Given the description of an element on the screen output the (x, y) to click on. 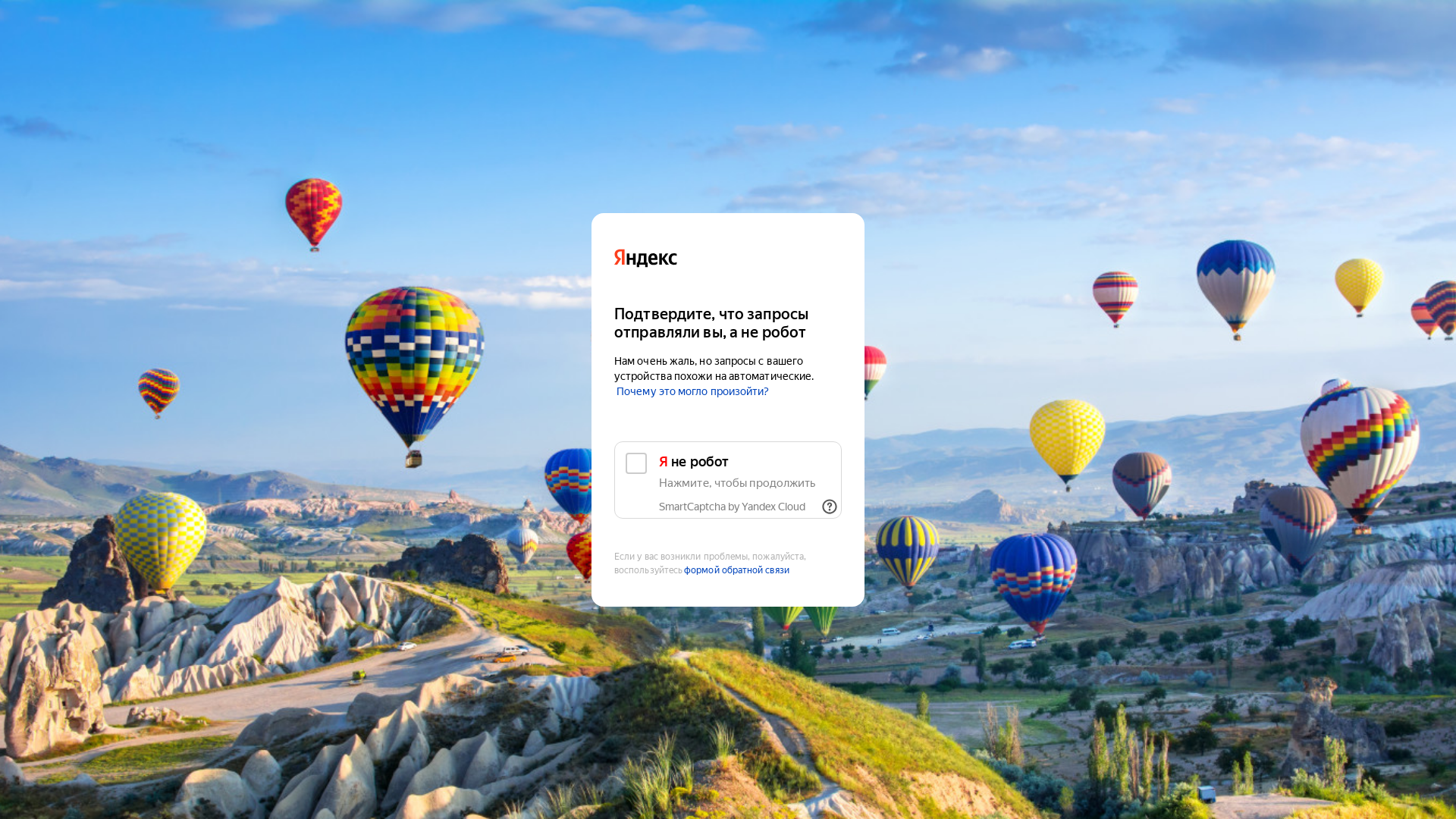
SmartCaptcha by Yandex Cloud Element type: text (731, 506)
Yandex Element type: hover (727, 256)
